Given the description of an element on the screen output the (x, y) to click on. 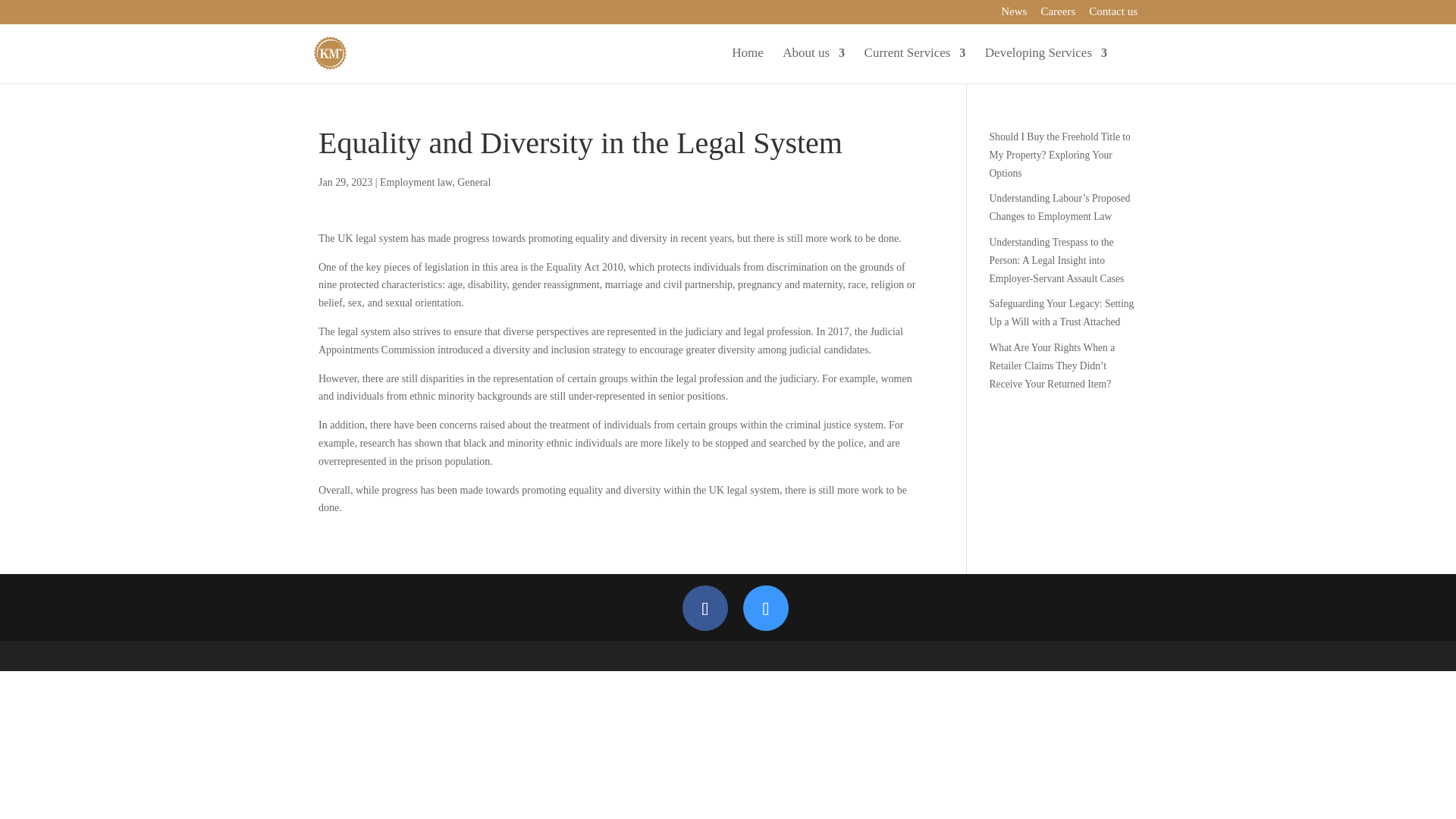
Current Services (915, 65)
Home (747, 65)
Careers (1058, 15)
About us (813, 65)
Contact us (1113, 15)
Developing Services (1045, 65)
News (1013, 15)
